Given the description of an element on the screen output the (x, y) to click on. 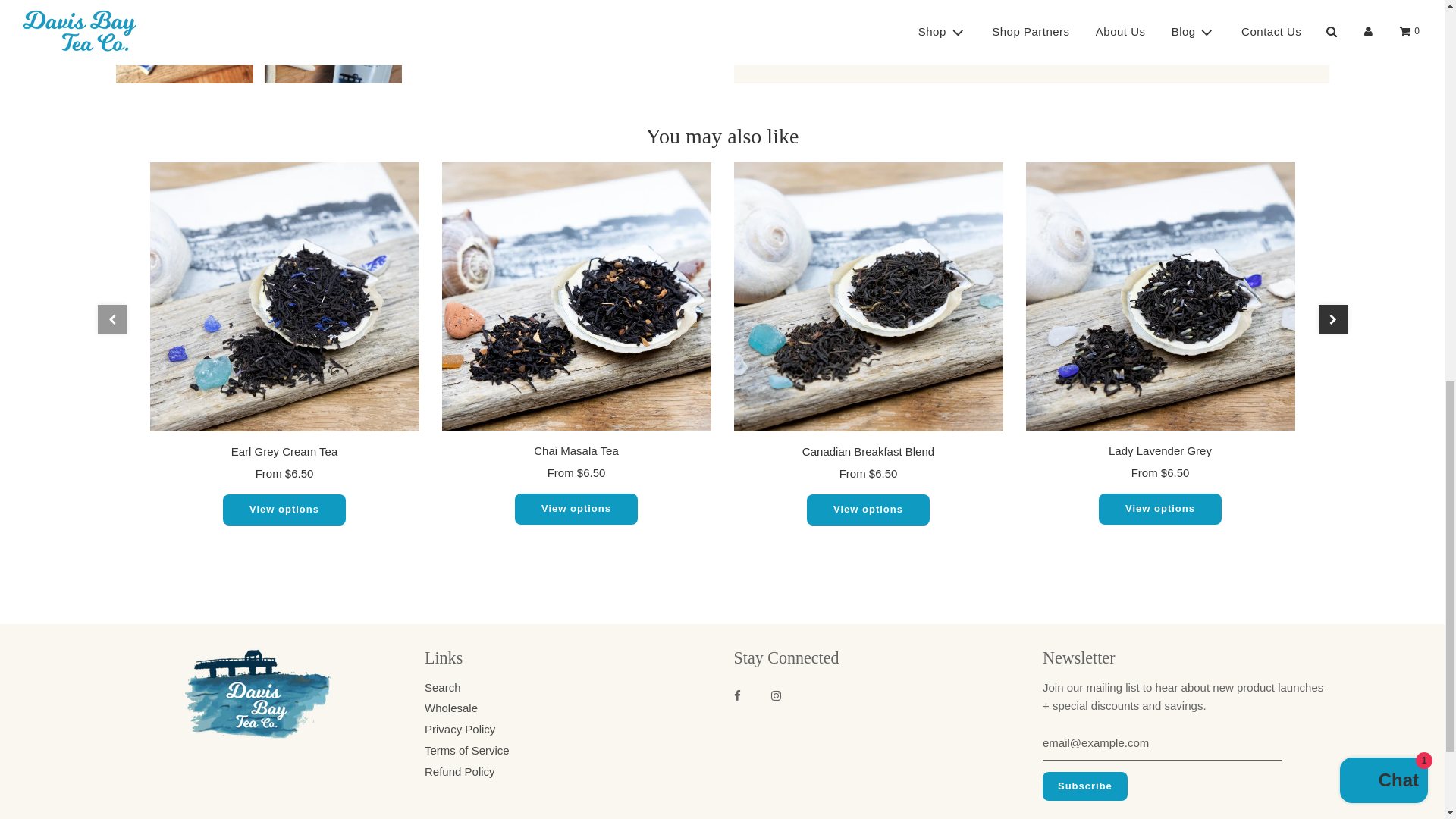
Chai Masala Tea (575, 296)
Earl Grey Cream Tea (284, 296)
Canadian Breakfast Blend (868, 296)
Lady Lavender Grey (1159, 296)
Subscribe (1084, 786)
